Given the description of an element on the screen output the (x, y) to click on. 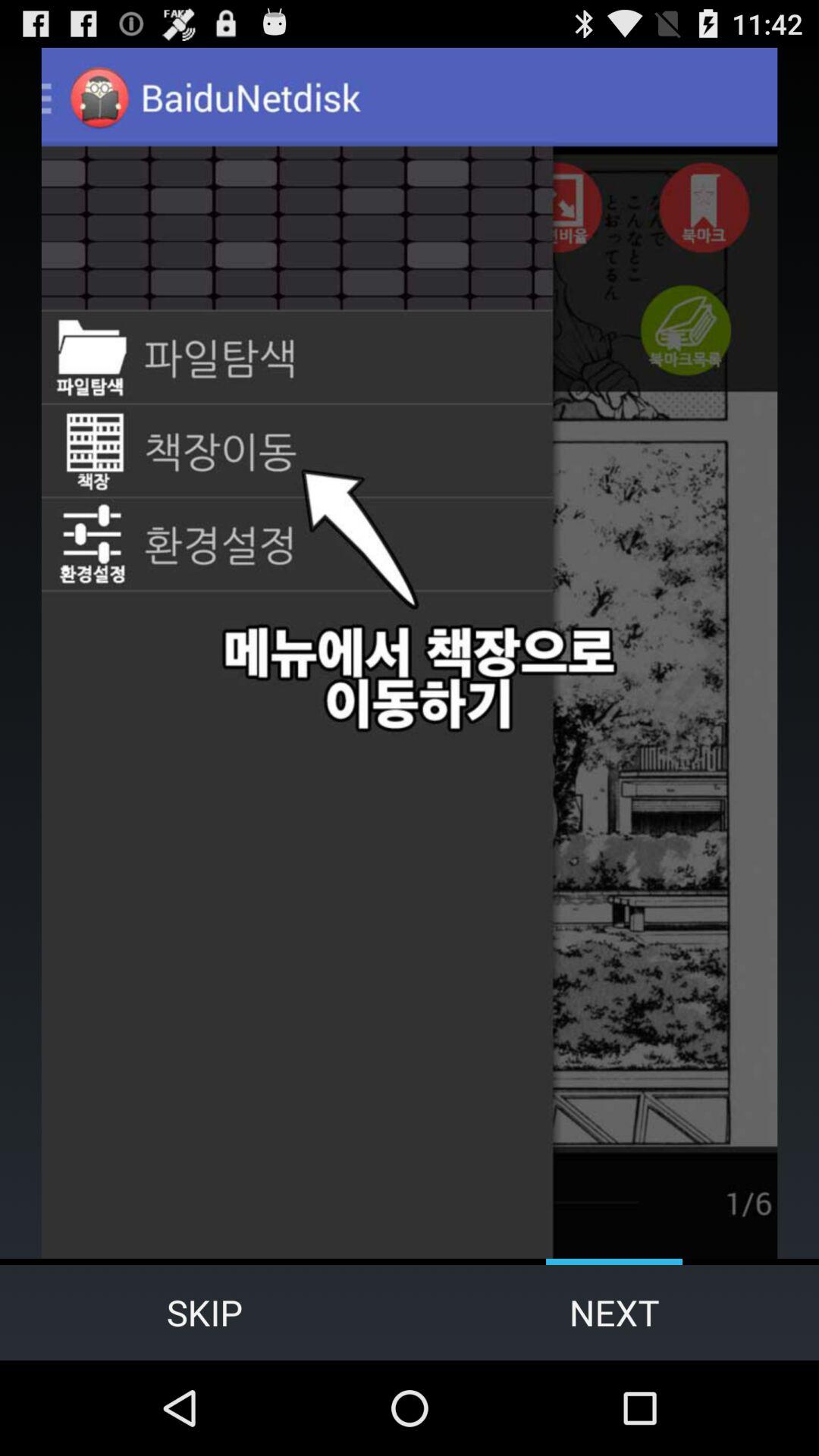
open icon at the bottom left corner (204, 1312)
